Given the description of an element on the screen output the (x, y) to click on. 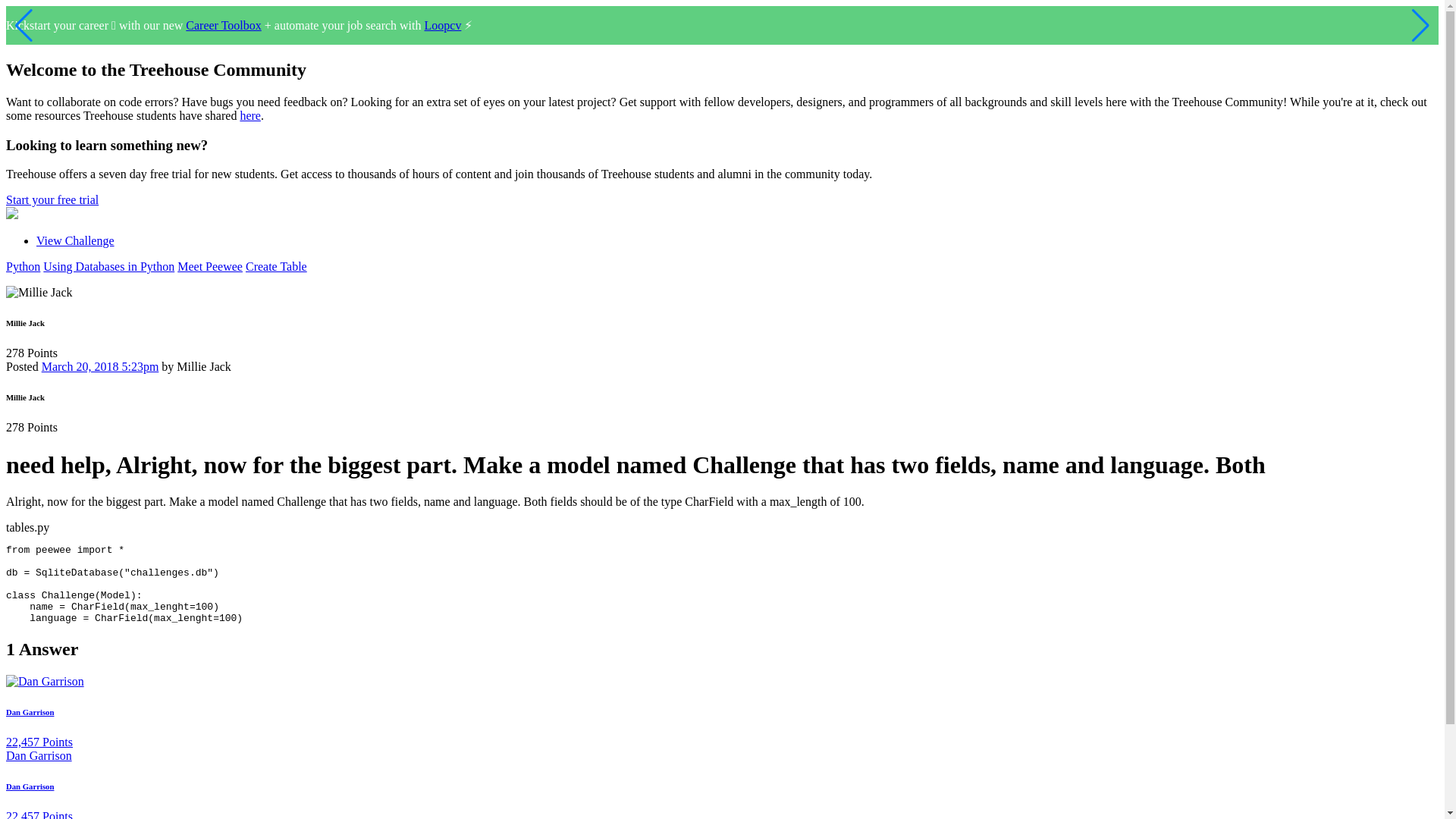
Loopcv (443, 24)
Career Toolbox (223, 24)
